Given the description of an element on the screen output the (x, y) to click on. 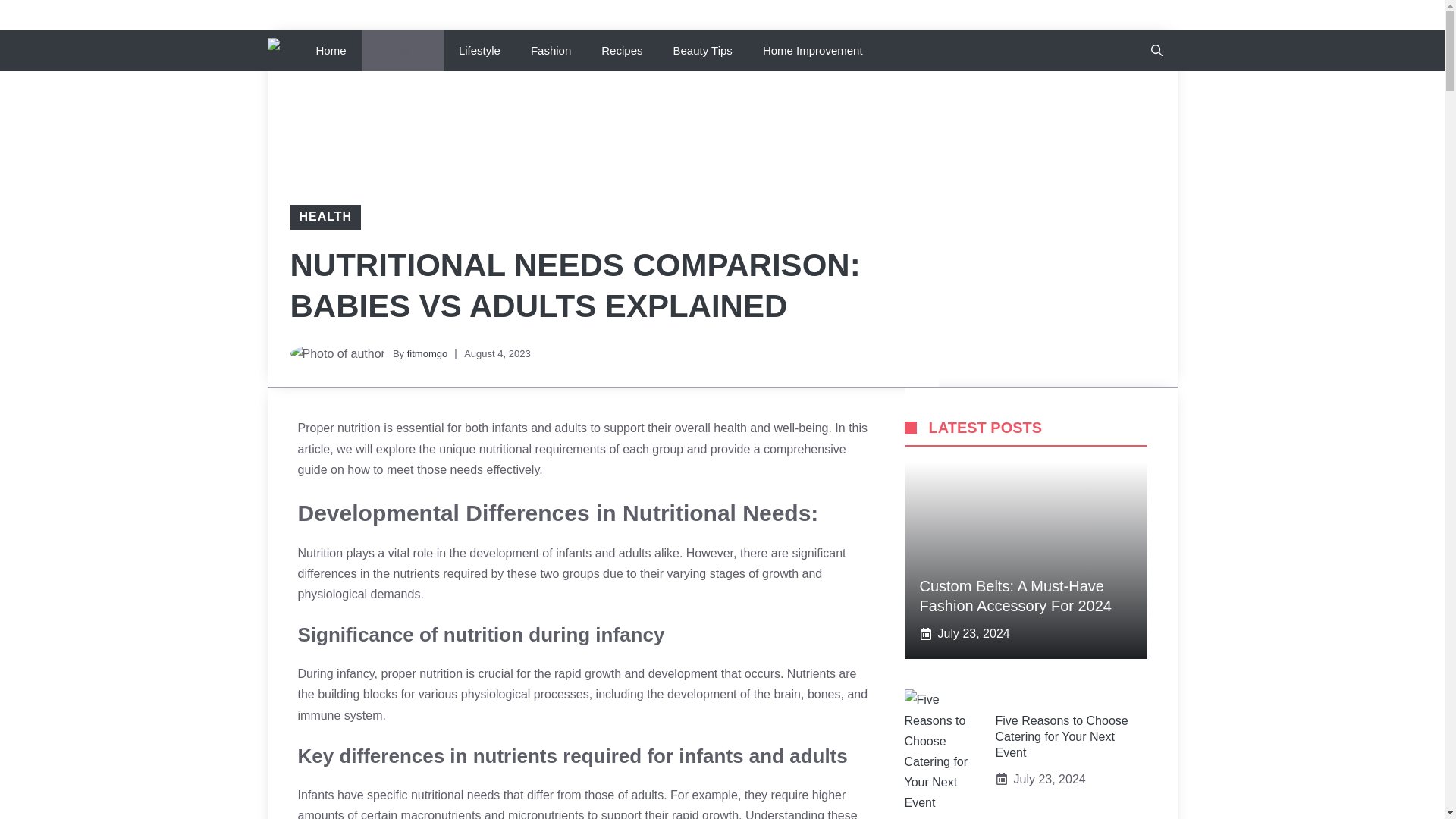
Beauty Tips (702, 50)
Lifestyle (479, 50)
Health (402, 50)
Home (330, 50)
Recipes (622, 50)
Fashion (550, 50)
HEALTH (324, 215)
Five Reasons to Choose Catering for Your Next Event (1060, 736)
Custom Belts: A Must-Have Fashion Accessory For 2024 (1014, 596)
SORRY, YOUR BROWSER DOES NOT SUPPORT INLINE SVG. (909, 427)
fitmomgo (426, 353)
Home Improvement (812, 50)
